Given the description of an element on the screen output the (x, y) to click on. 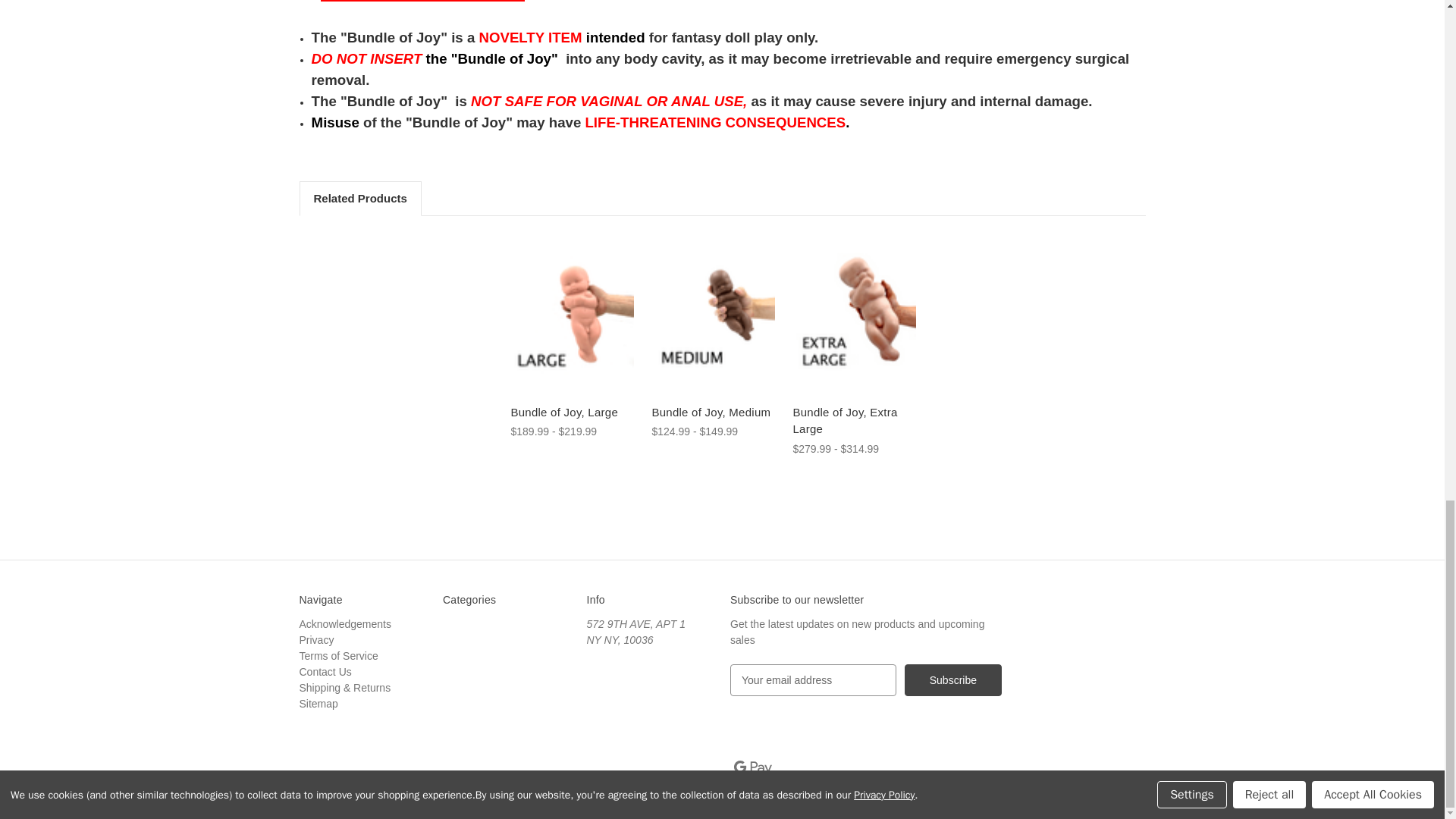
Bundle of Joy, Extra Large (855, 421)
Subscribe (952, 680)
Acknowledgements (344, 623)
Privacy (315, 639)
Bundle of Joy, Extra Large (854, 313)
Terms of Service (337, 655)
Related Products (359, 198)
Bundle of Joy, Medium (713, 313)
Bundle of Joy, Large (572, 313)
Bundle of Joy, Medium (714, 412)
